Given the description of an element on the screen output the (x, y) to click on. 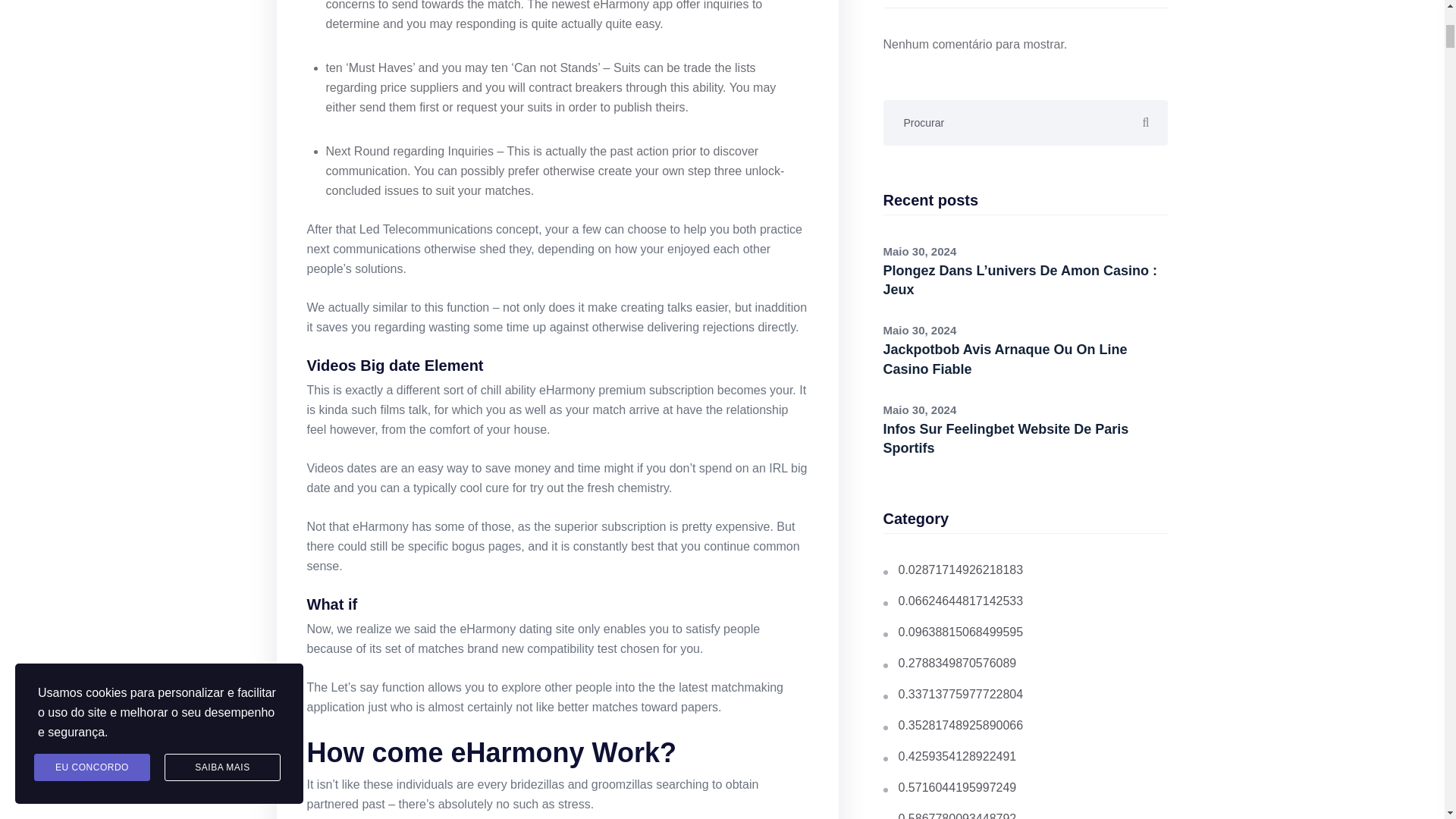
Jackpotbob Avis Arnaque Ou On Line Casino Fiable (1004, 358)
